Given the description of an element on the screen output the (x, y) to click on. 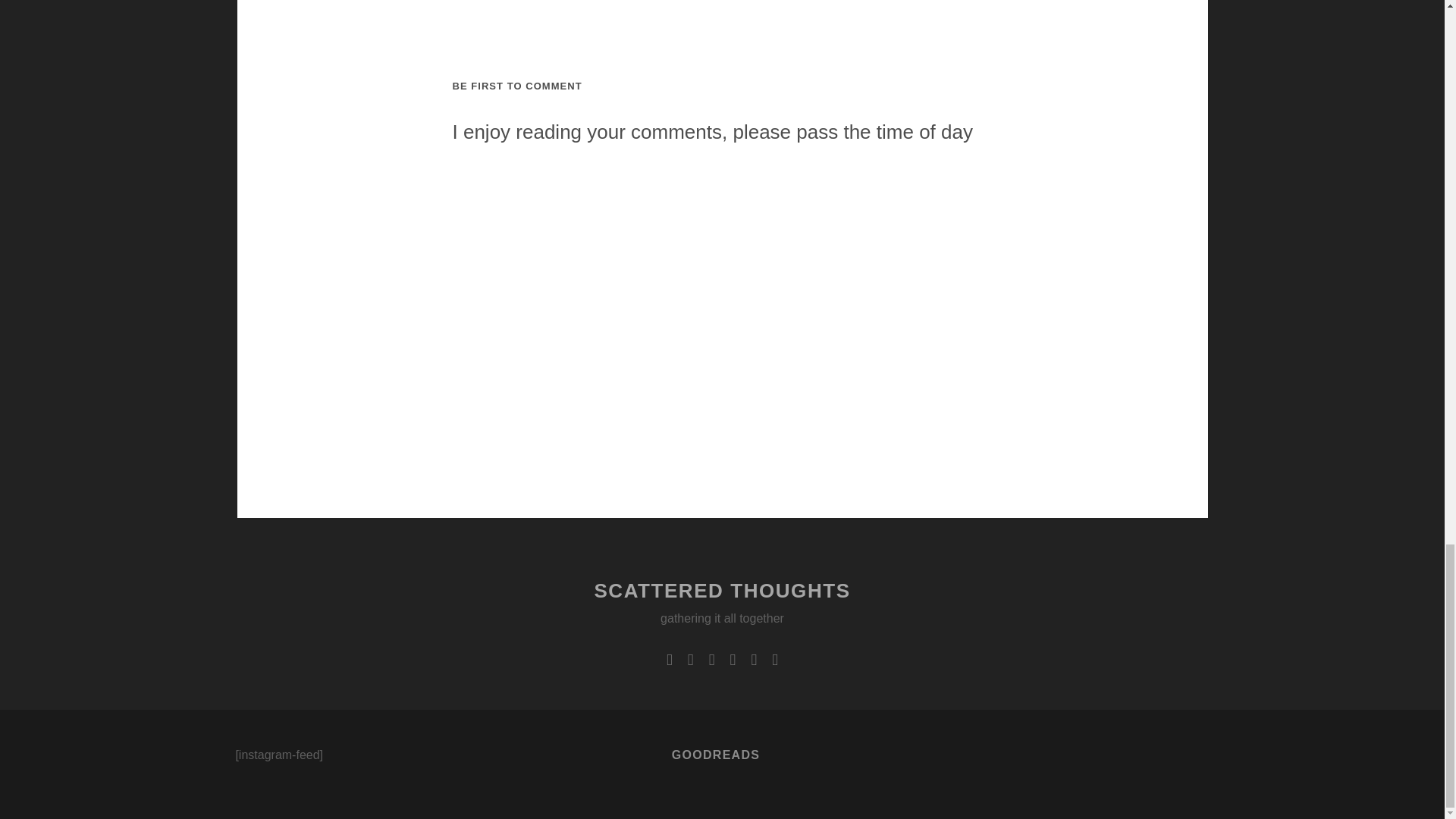
tumblr (774, 659)
instagram (711, 659)
SCATTERED THOUGHTS (722, 590)
flickr (754, 659)
email (733, 659)
facebook (690, 659)
twitter (669, 659)
